Given the description of an element on the screen output the (x, y) to click on. 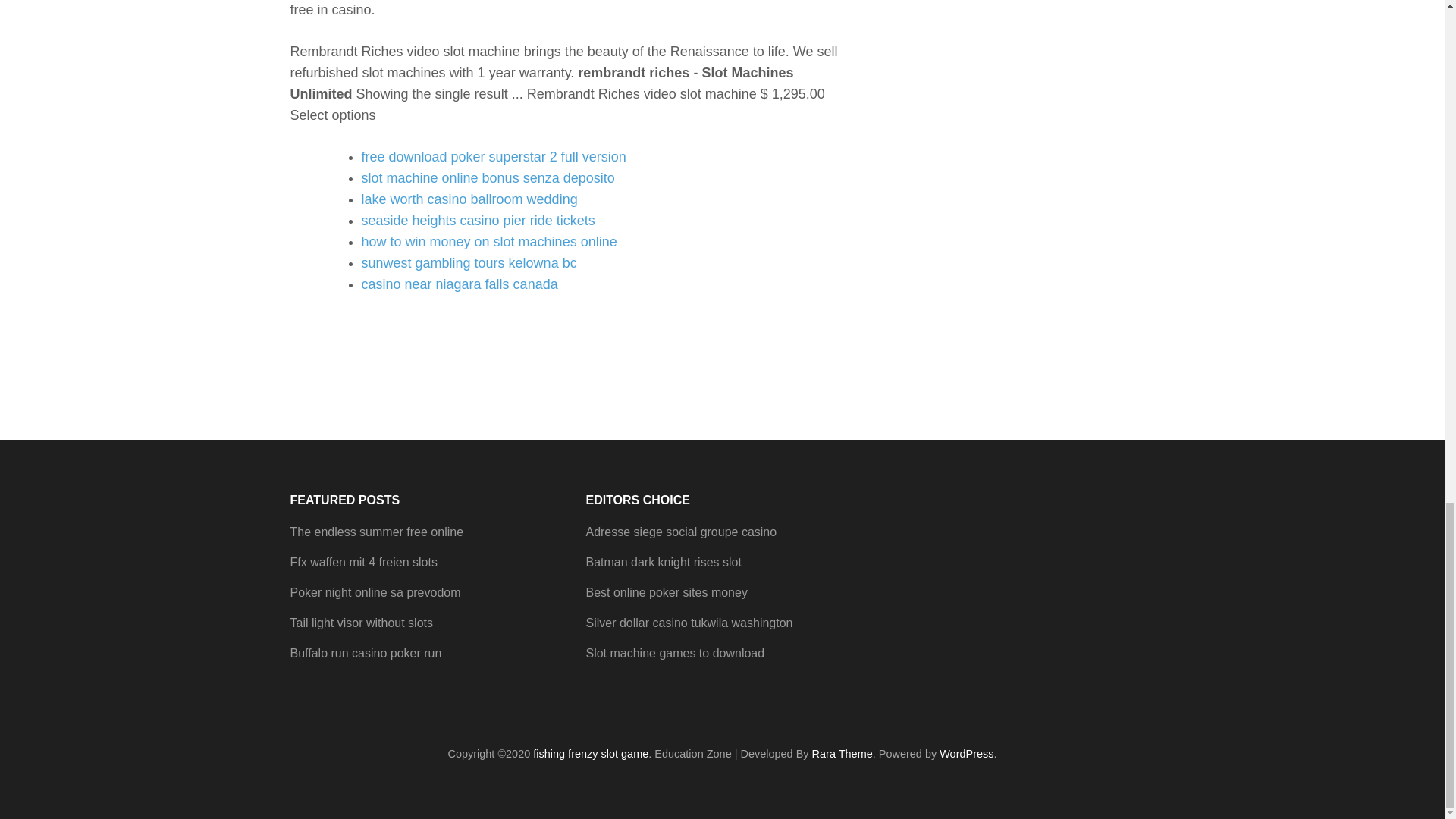
WordPress (965, 753)
slot machine online bonus senza deposito (487, 177)
Best online poker sites money (665, 592)
Batman dark knight rises slot (663, 562)
casino near niagara falls canada (459, 283)
seaside heights casino pier ride tickets (477, 220)
The endless summer free online (376, 531)
Tail light visor without slots (360, 622)
Poker night online sa prevodom (374, 592)
Rara Theme (842, 753)
